Given the description of an element on the screen output the (x, y) to click on. 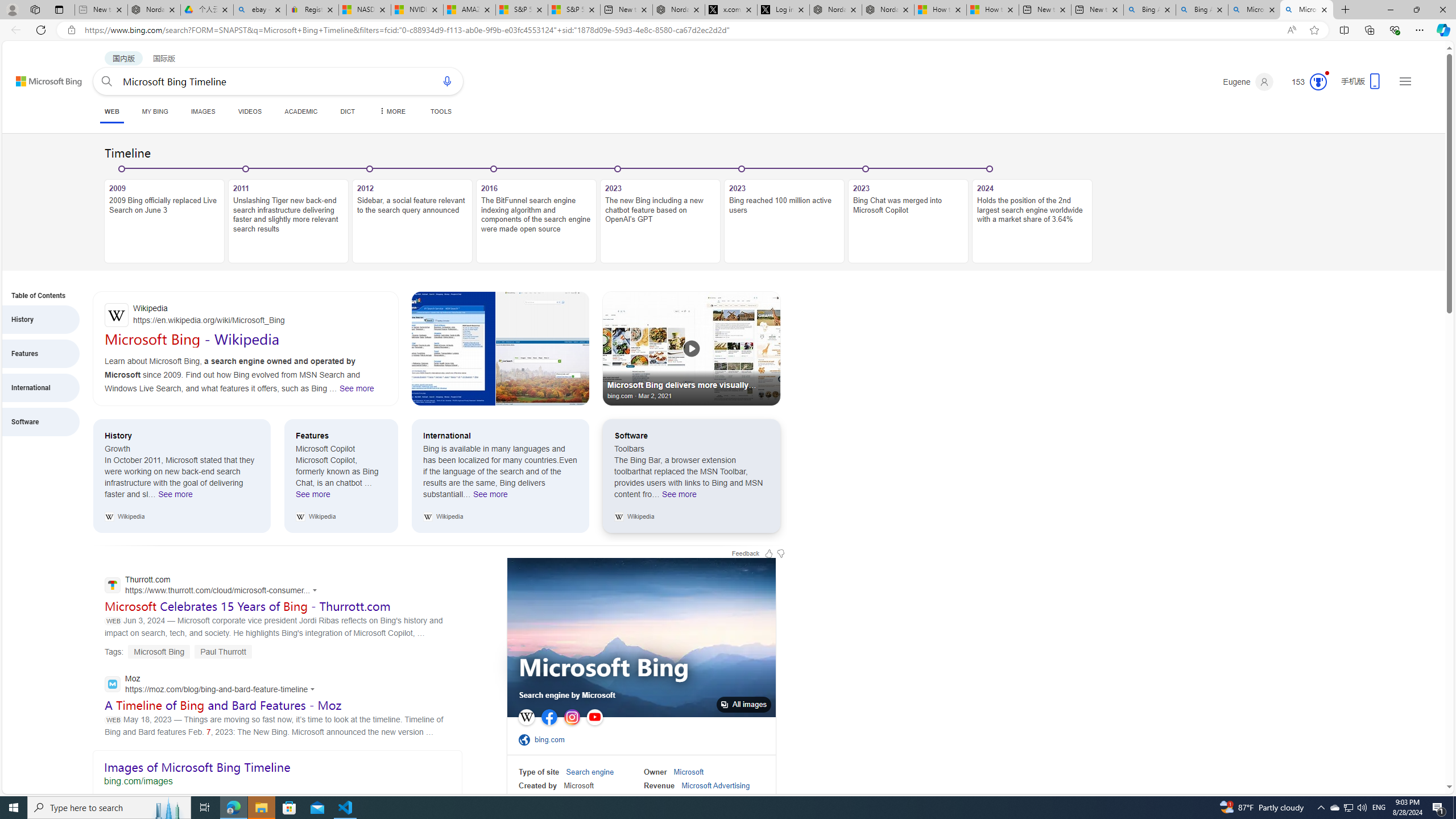
WEB (111, 111)
Facebook (549, 716)
Register: Create a personal eBay account (312, 9)
VIDEOS (249, 111)
Dropdown Menu (391, 111)
Skip to content (35, 76)
Address and search bar (680, 29)
Class: sp-ofsite (523, 739)
2023 Bing Chat was merged into Microsoft Copilot (908, 220)
2023Bing reached 100 million active users (784, 214)
